Given the description of an element on the screen output the (x, y) to click on. 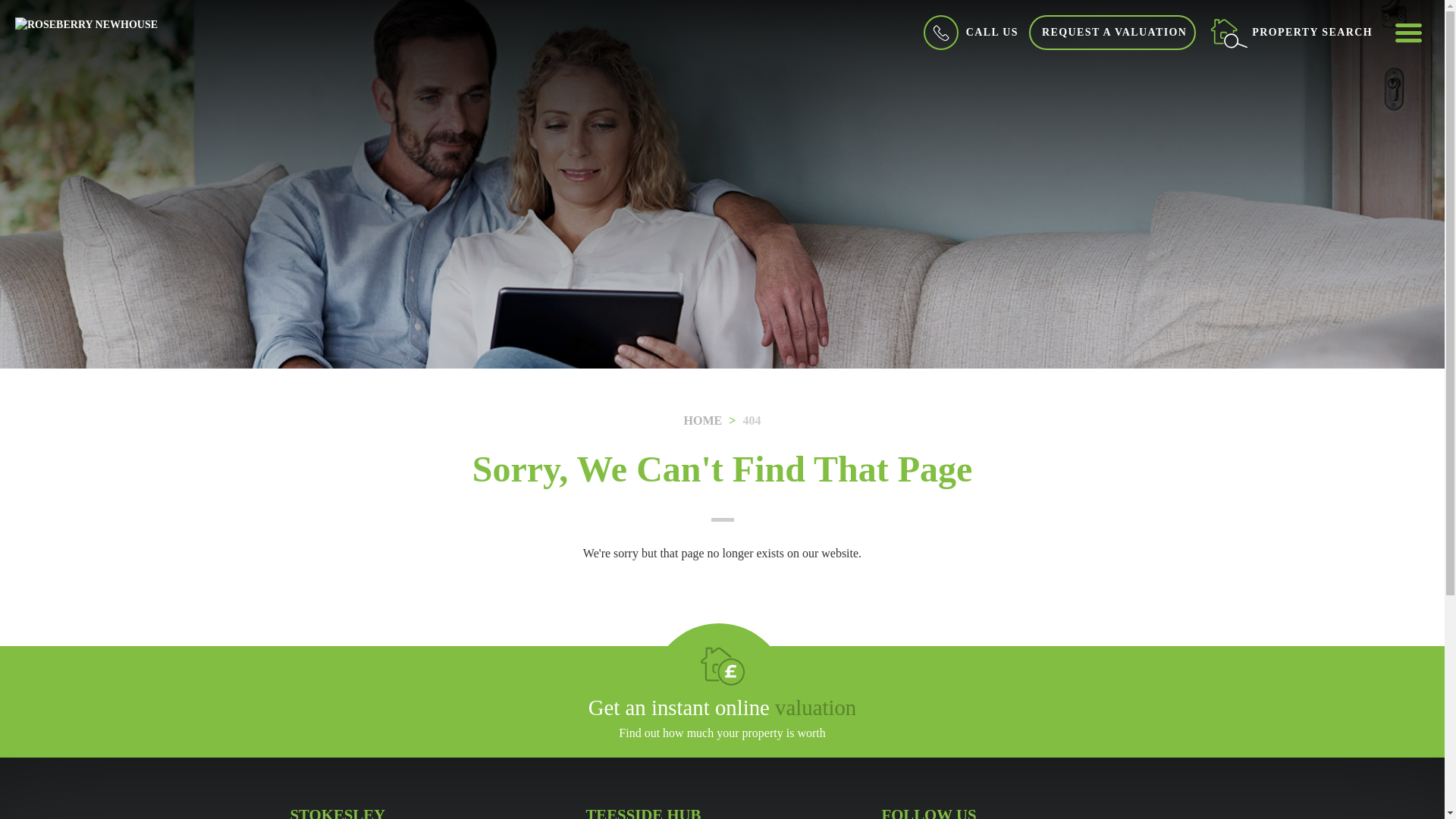
404 (751, 420)
CALL US (969, 31)
MENU (1406, 31)
PROPERTY SEARCH (1291, 31)
HOME (703, 420)
REQUEST A VALUATION (1112, 32)
